Given the description of an element on the screen output the (x, y) to click on. 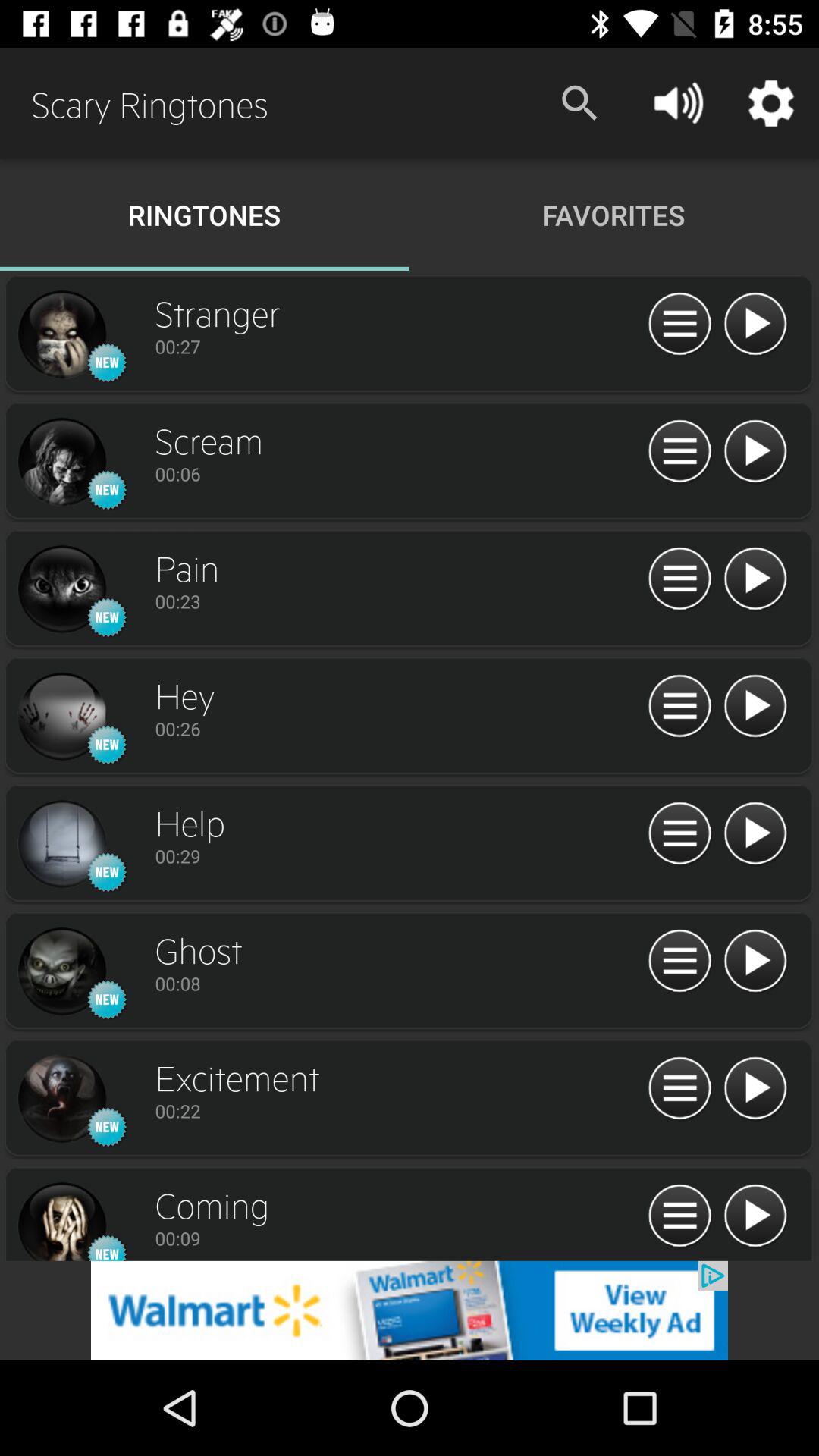
go next (755, 579)
